Given the description of an element on the screen output the (x, y) to click on. 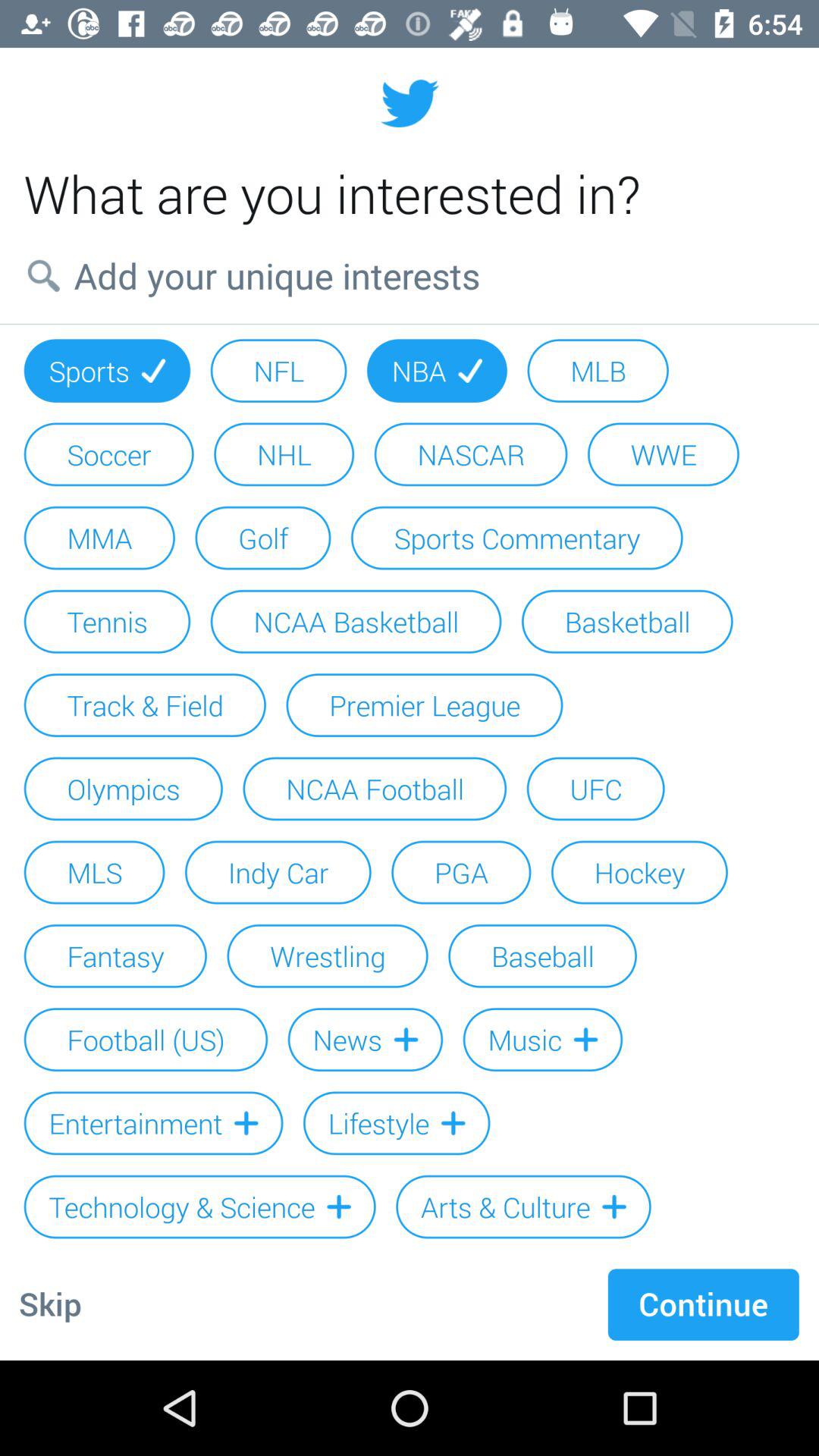
launch icon below soccer (99, 537)
